Given the description of an element on the screen output the (x, y) to click on. 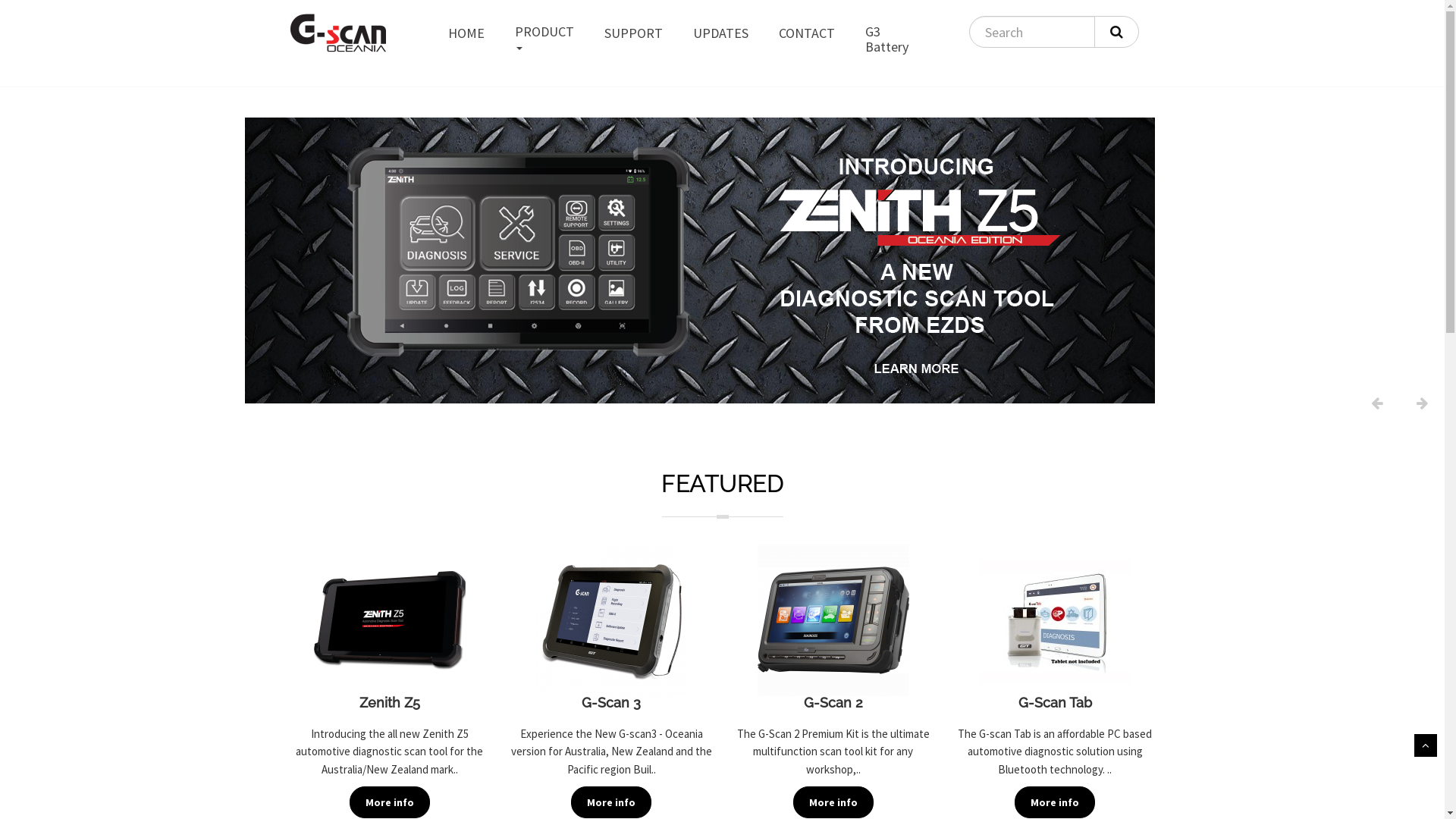
CONTACT Element type: text (806, 37)
Zenith Z5 Element type: hover (389, 620)
G-Scan 2 Element type: hover (833, 620)
More info Element type: text (389, 802)
G-Scan 3 Element type: hover (611, 620)
HOME Element type: text (466, 37)
G-Scan Oceania Element type: hover (337, 34)
G-Scan Tab Element type: text (1055, 702)
G-Scan Tab Element type: hover (1054, 620)
UPDATES Element type: text (720, 37)
More info Element type: text (1054, 802)
More info Element type: text (833, 802)
G-Scan 3 Element type: text (610, 702)
G-Scan 2 Element type: text (832, 702)
PRODUCT Element type: text (544, 42)
SUPPORT Element type: text (633, 37)
Zenith Z5 Element type: text (389, 702)
G3 Battery Element type: text (886, 42)
More info Element type: text (611, 802)
